Given the description of an element on the screen output the (x, y) to click on. 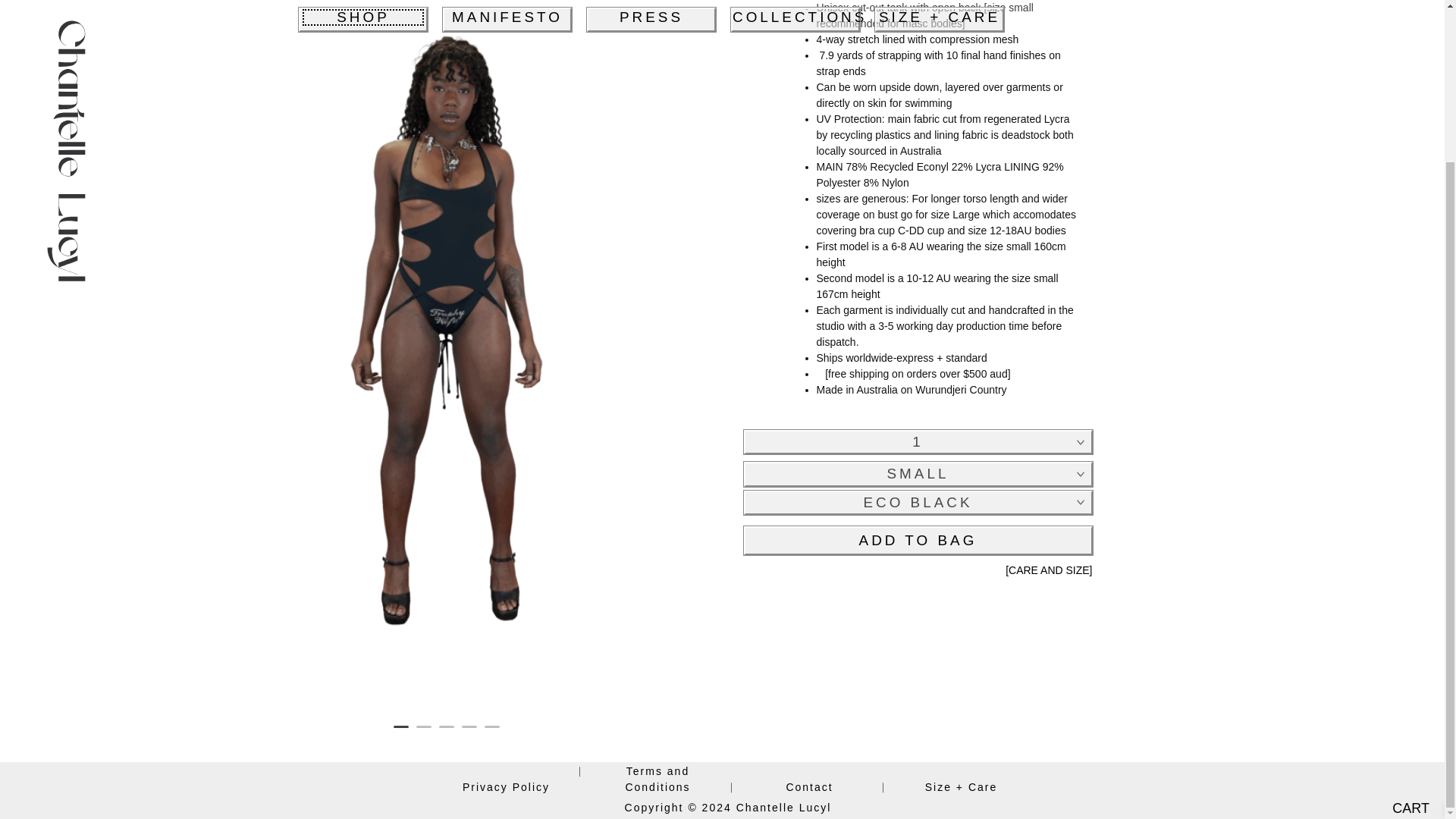
2 (422, 733)
ADD TO BAG (917, 540)
1 (400, 733)
3 (445, 733)
4 (468, 733)
5 (491, 733)
